Given the description of an element on the screen output the (x, y) to click on. 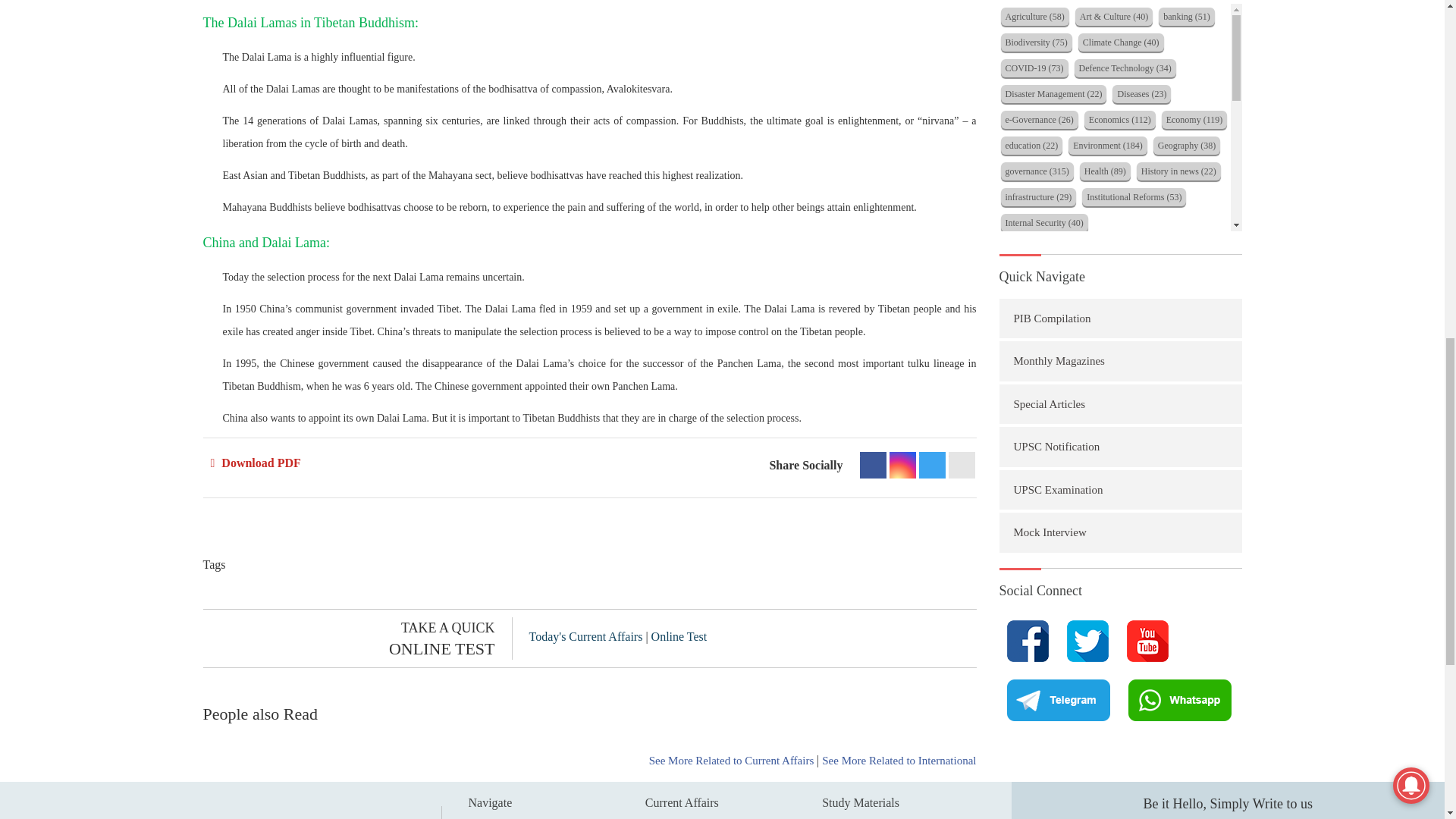
Google Gmail (960, 465)
Telegram (931, 465)
Instagram (901, 465)
Facebook (873, 465)
